Given the description of an element on the screen output the (x, y) to click on. 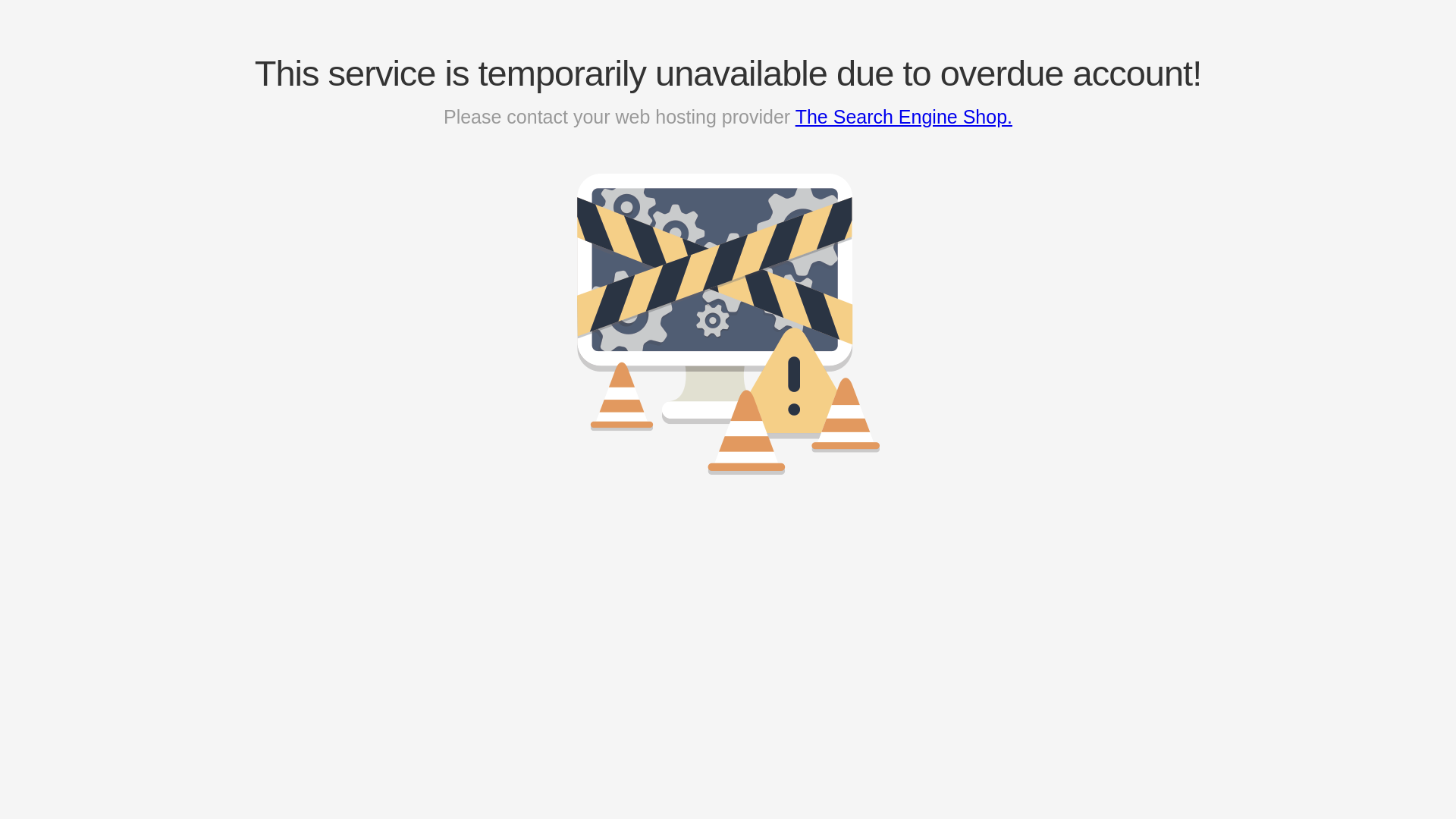
The Search Engine Shop. Element type: text (903, 116)
